Given the description of an element on the screen output the (x, y) to click on. 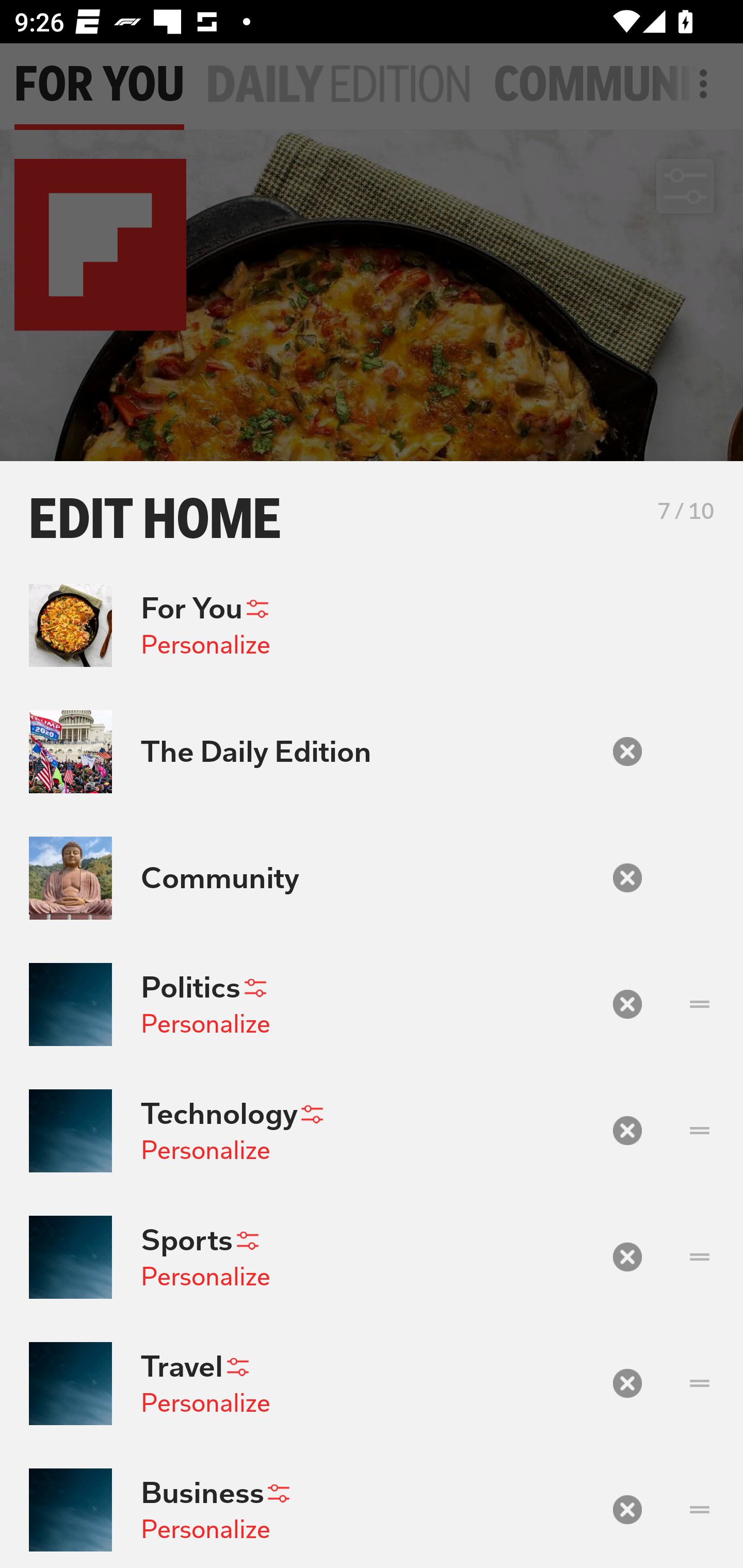
Personalize (205, 644)
Personalize (205, 1023)
Personalize (205, 1149)
Personalize (205, 1276)
Personalize (205, 1403)
Personalize (205, 1528)
